Given the description of an element on the screen output the (x, y) to click on. 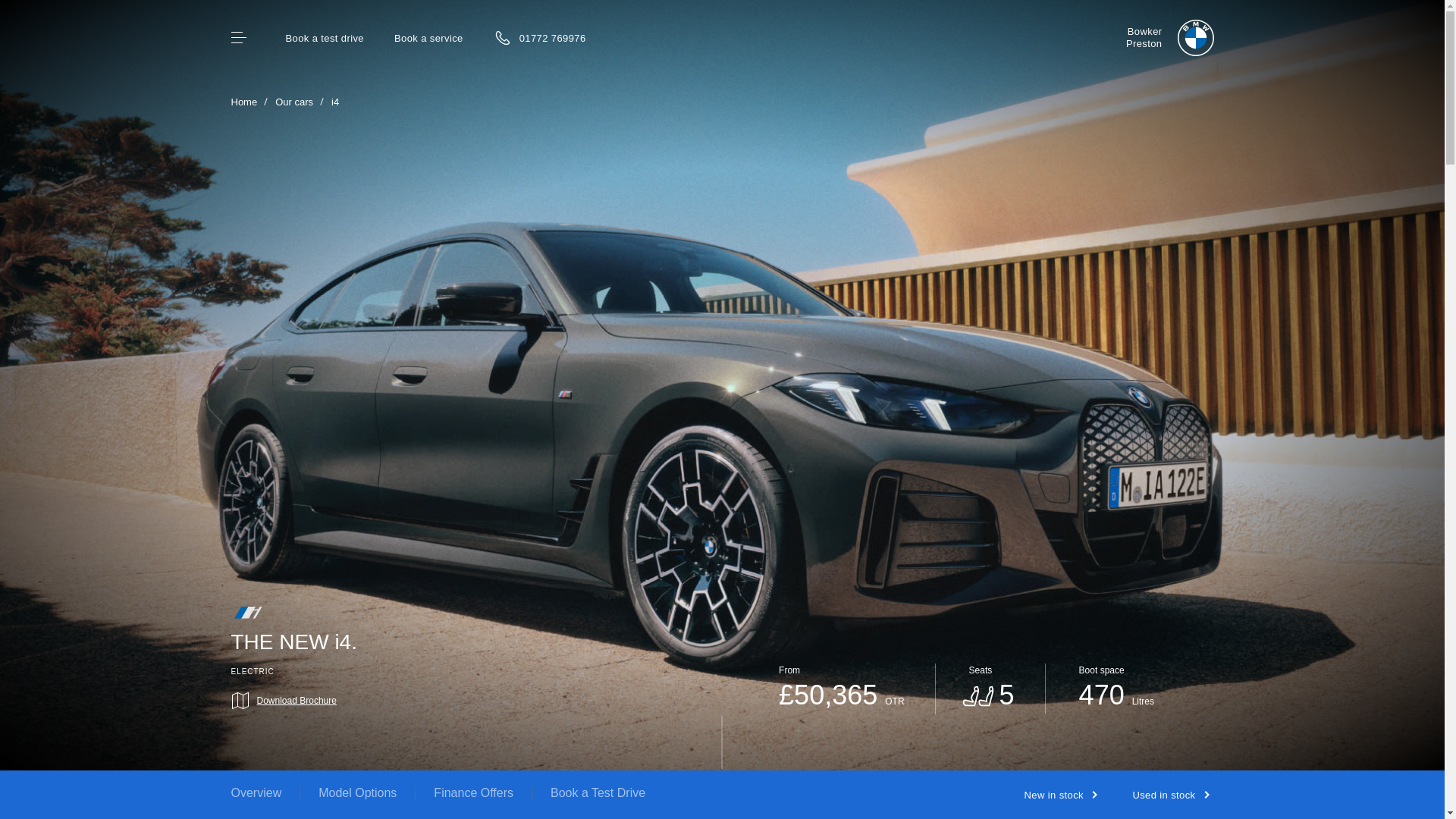
01772 769976 (536, 33)
Book a service (1169, 37)
Book a test drive (428, 38)
Menu control (323, 38)
